Given the description of an element on the screen output the (x, y) to click on. 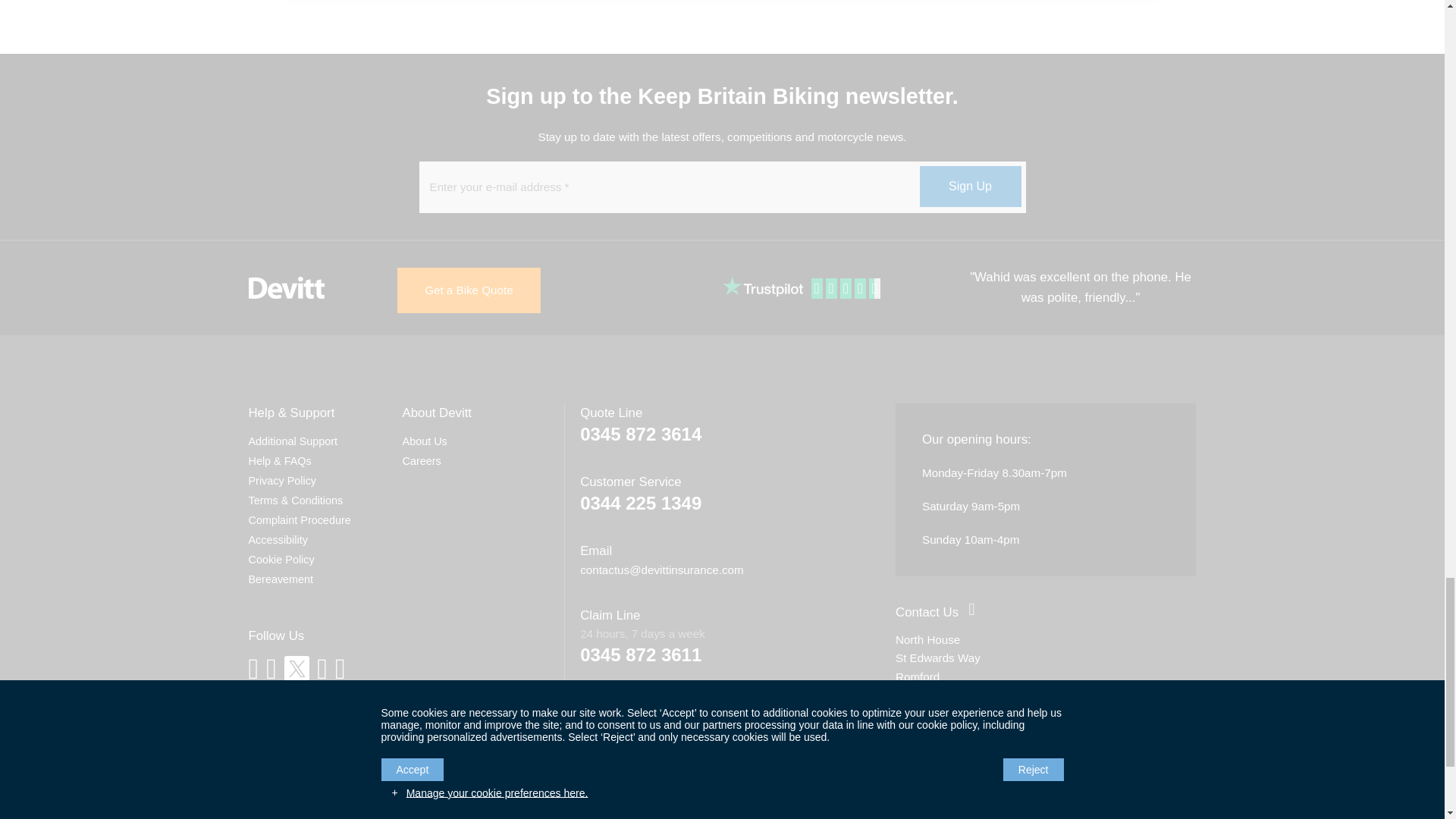
Rated 4.5 stars out of 5 (846, 289)
Follow us on Twitter (295, 668)
Sign Up (969, 186)
Get in-touch with the Devitt team (926, 612)
Return to Devitt Insurance homepage (286, 287)
